Given the description of an element on the screen output the (x, y) to click on. 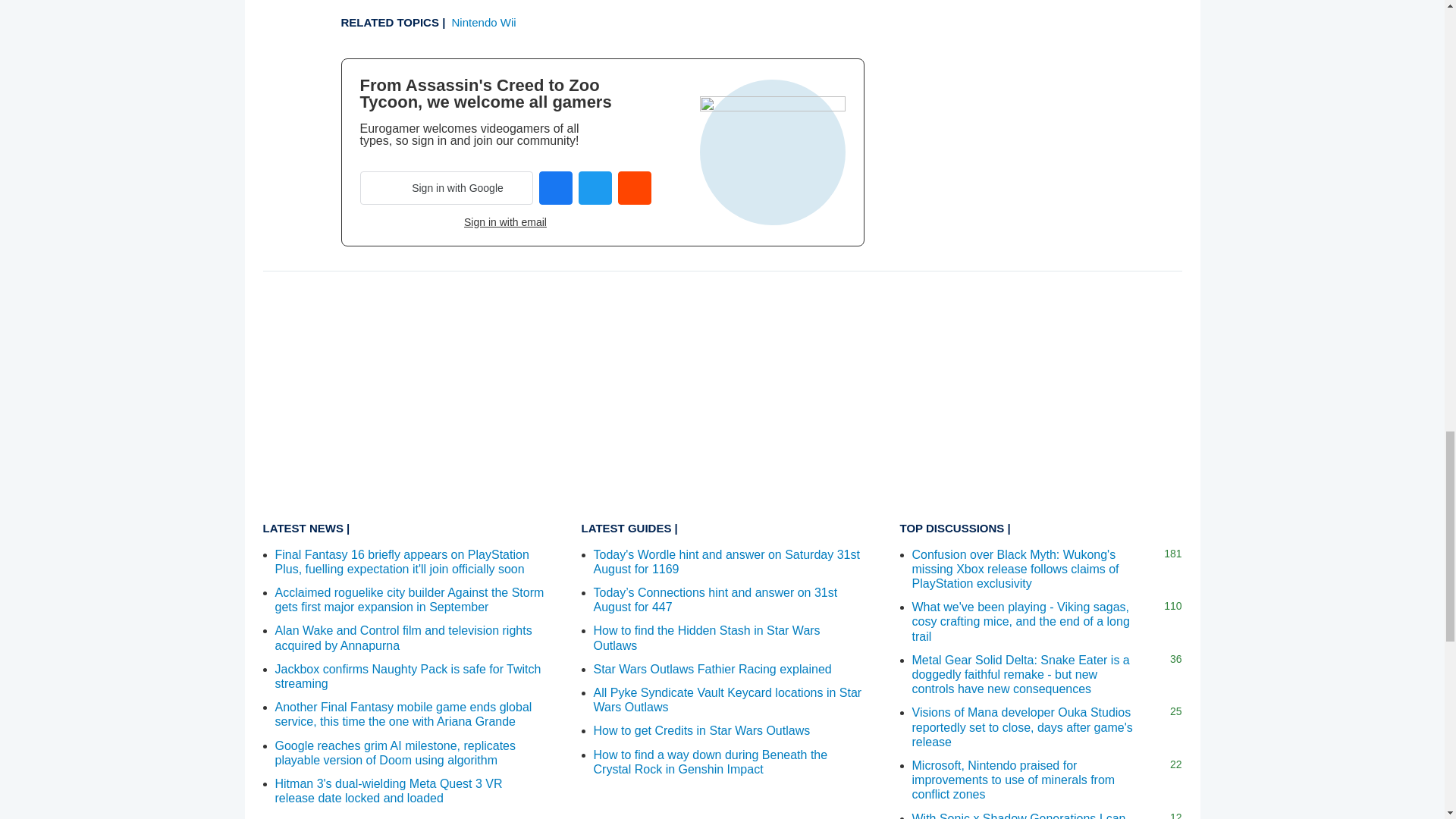
Sign in with Google (445, 187)
Sign in with email (504, 222)
Nintendo Wii (483, 21)
Sign in with Google (445, 187)
